Given the description of an element on the screen output the (x, y) to click on. 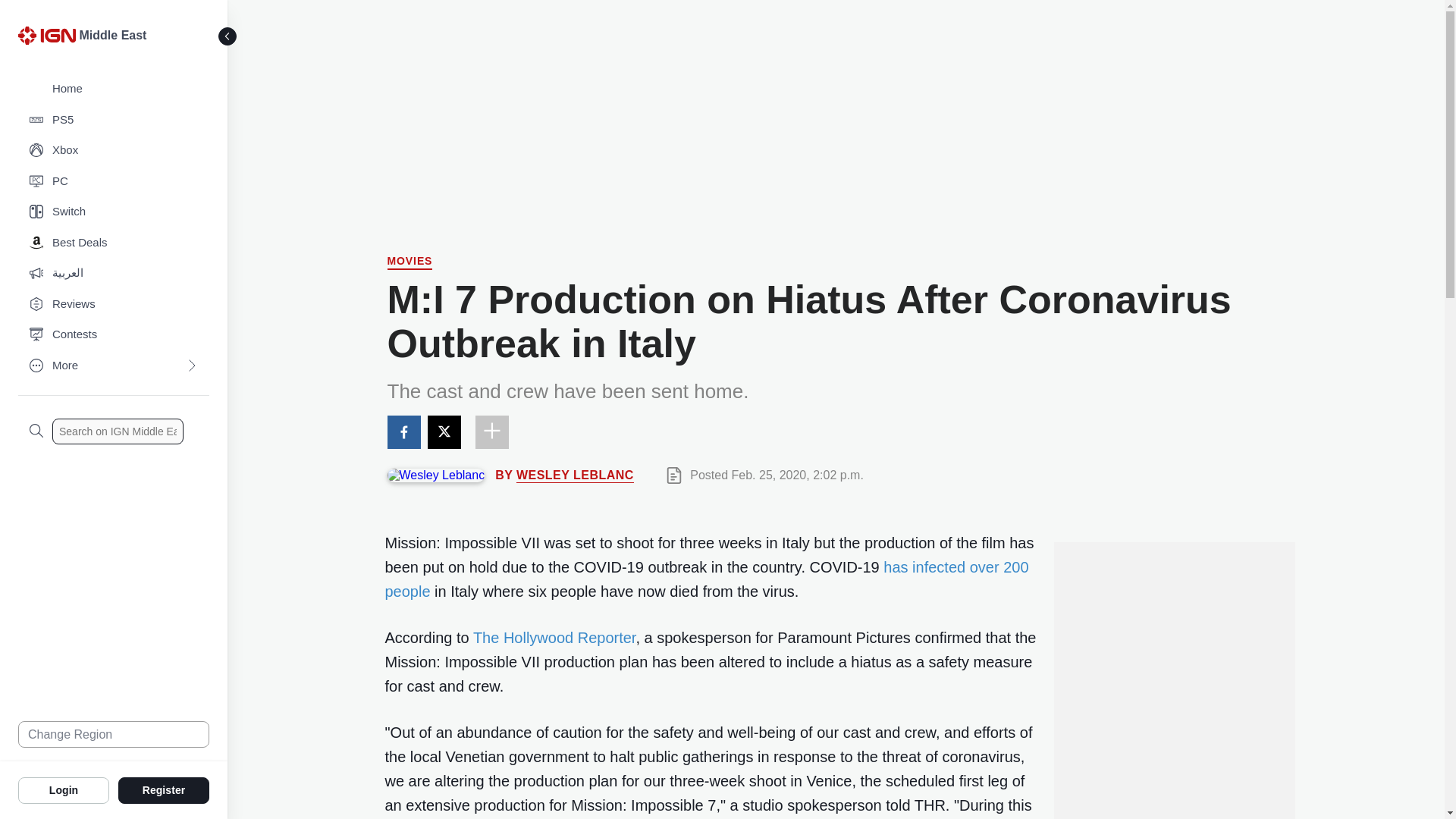
Contests (113, 334)
Reviews (113, 304)
Switch (113, 211)
IGN Logo (46, 34)
Xbox (113, 150)
MOVIES (409, 262)
PC (113, 181)
PS5 (113, 119)
Home (113, 89)
Best Deals (113, 242)
More (113, 365)
Movies (409, 262)
Register (163, 789)
WESLEY LEBLANC (574, 474)
IGN Logo (48, 39)
